Given the description of an element on the screen output the (x, y) to click on. 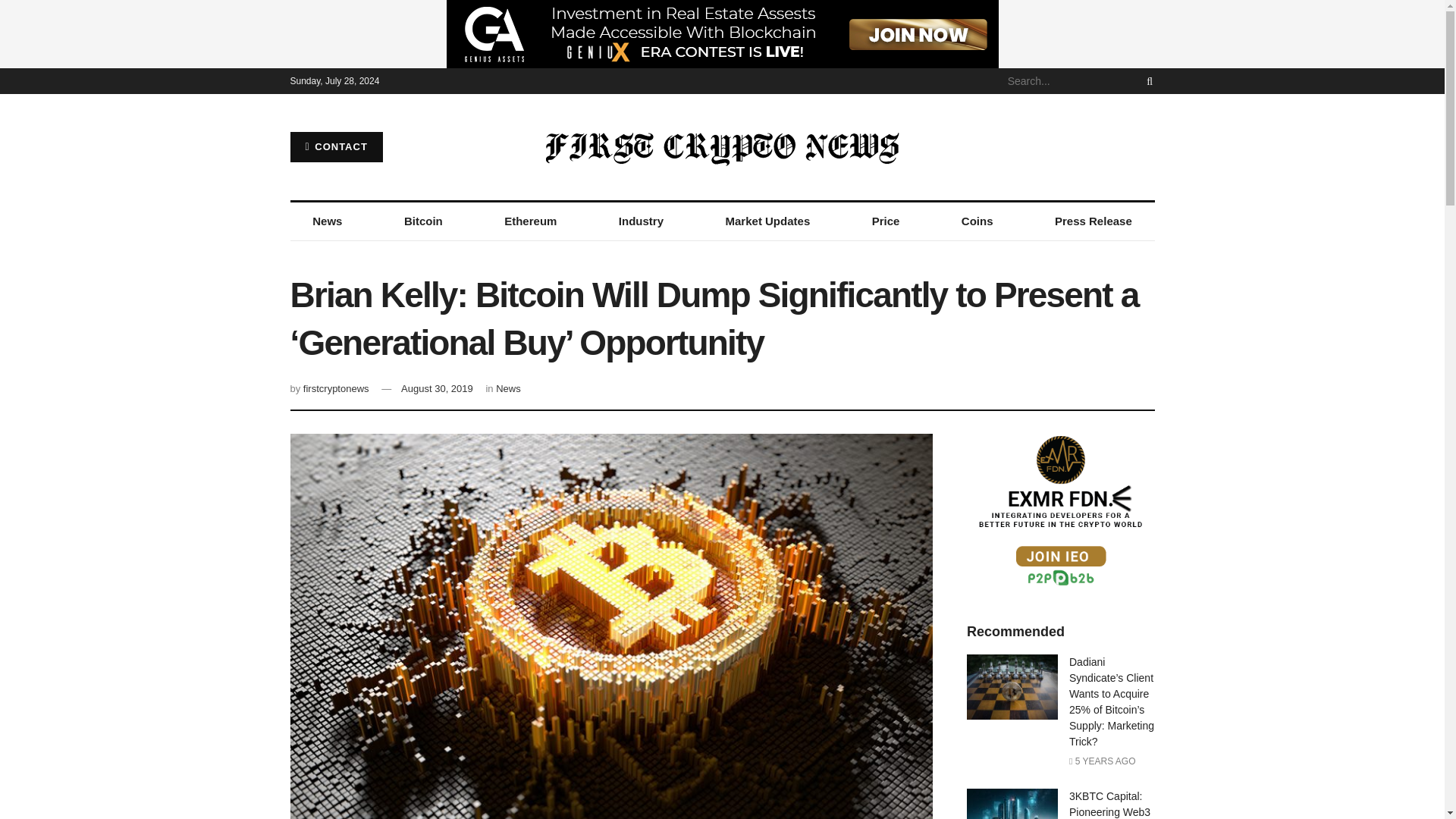
Market Updates (767, 221)
Bitcoin (422, 221)
Press Release (1093, 221)
Ethereum (530, 221)
Industry (640, 221)
News (508, 388)
firstcryptonews (335, 388)
August 30, 2019 (437, 388)
Price (884, 221)
CONTACT (335, 146)
Coins (976, 221)
News (327, 221)
